Given the description of an element on the screen output the (x, y) to click on. 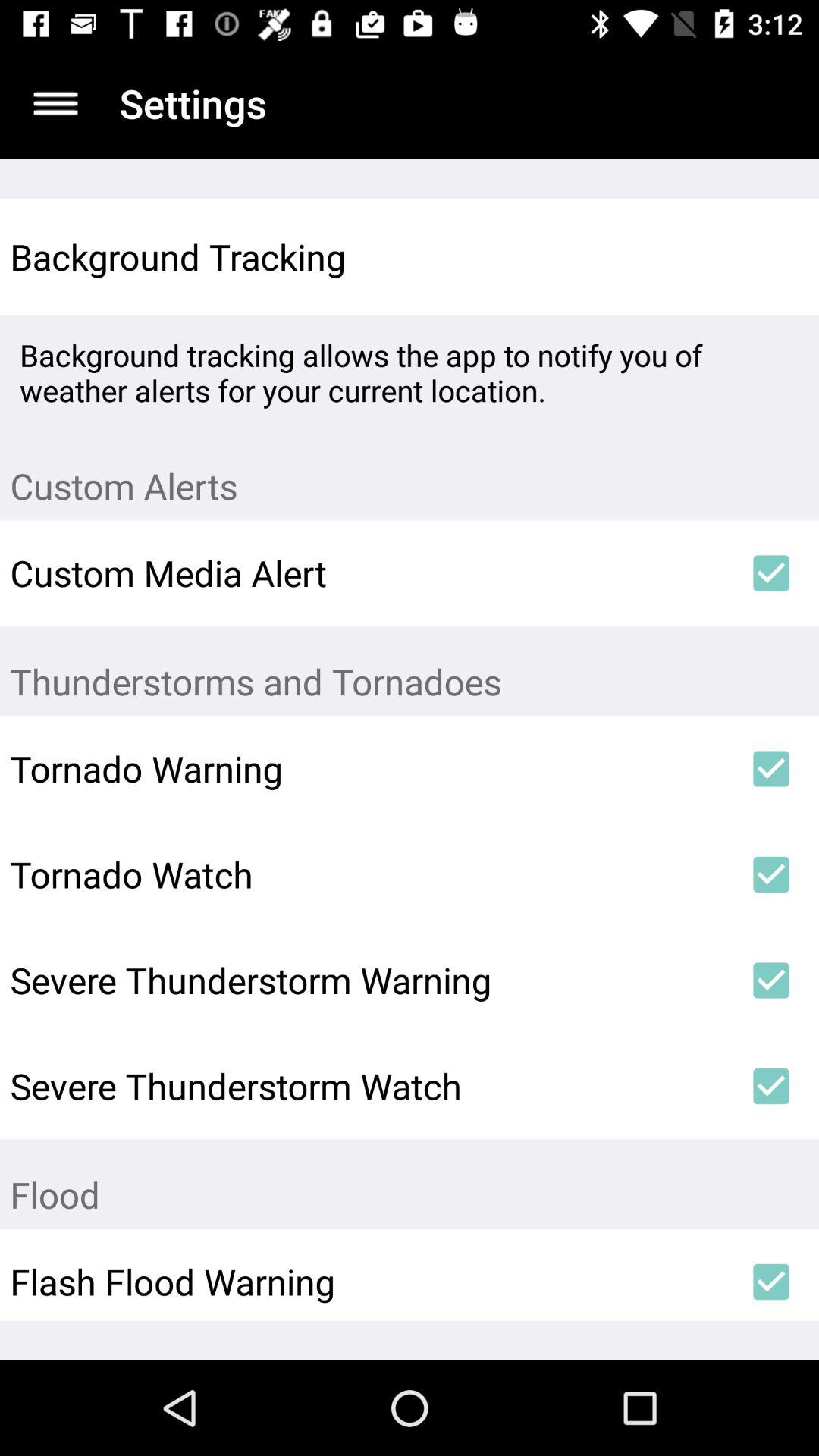
list of options (55, 103)
